Given the description of an element on the screen output the (x, y) to click on. 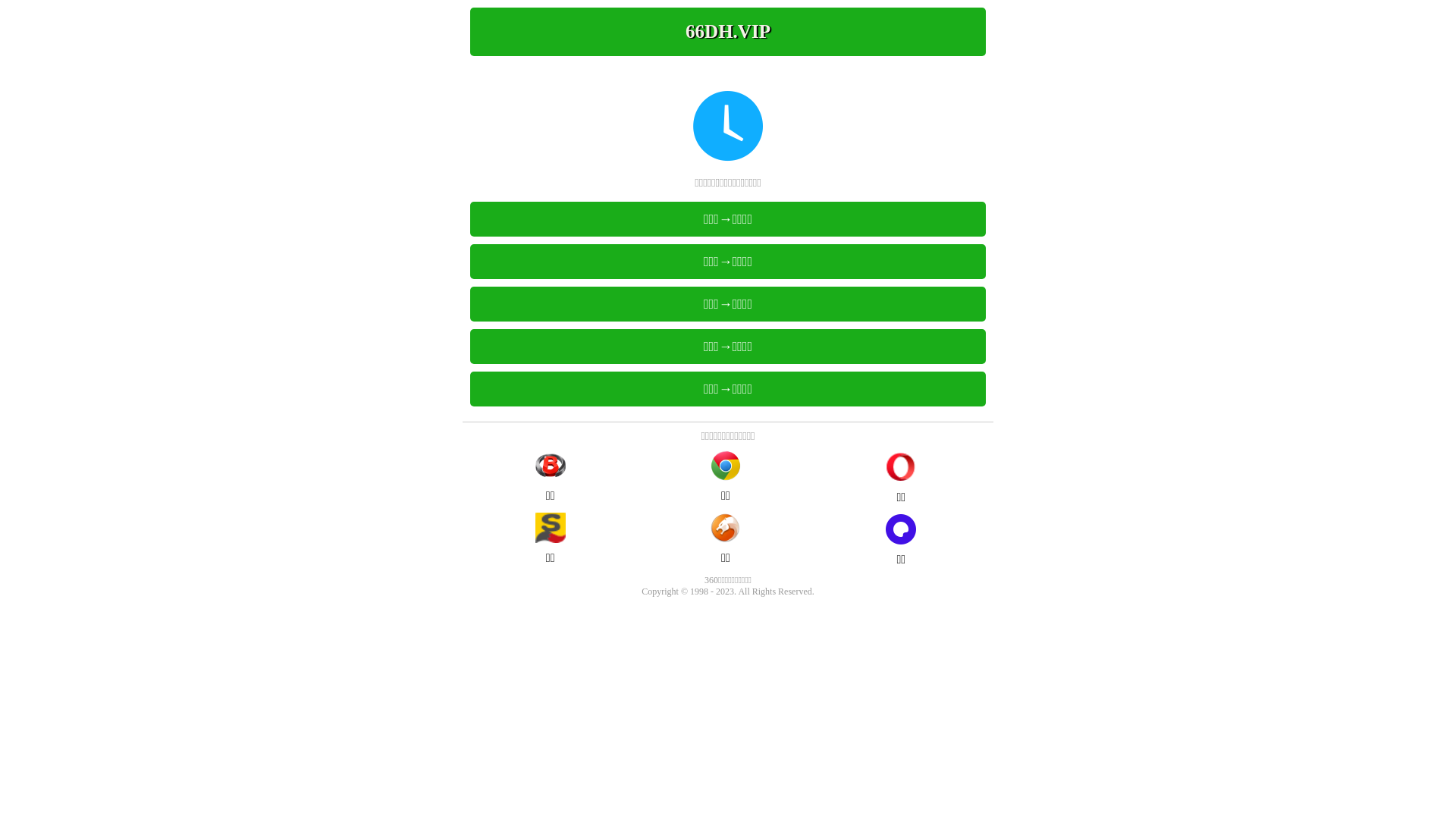
66DH.VIP Element type: text (727, 31)
